Given the description of an element on the screen output the (x, y) to click on. 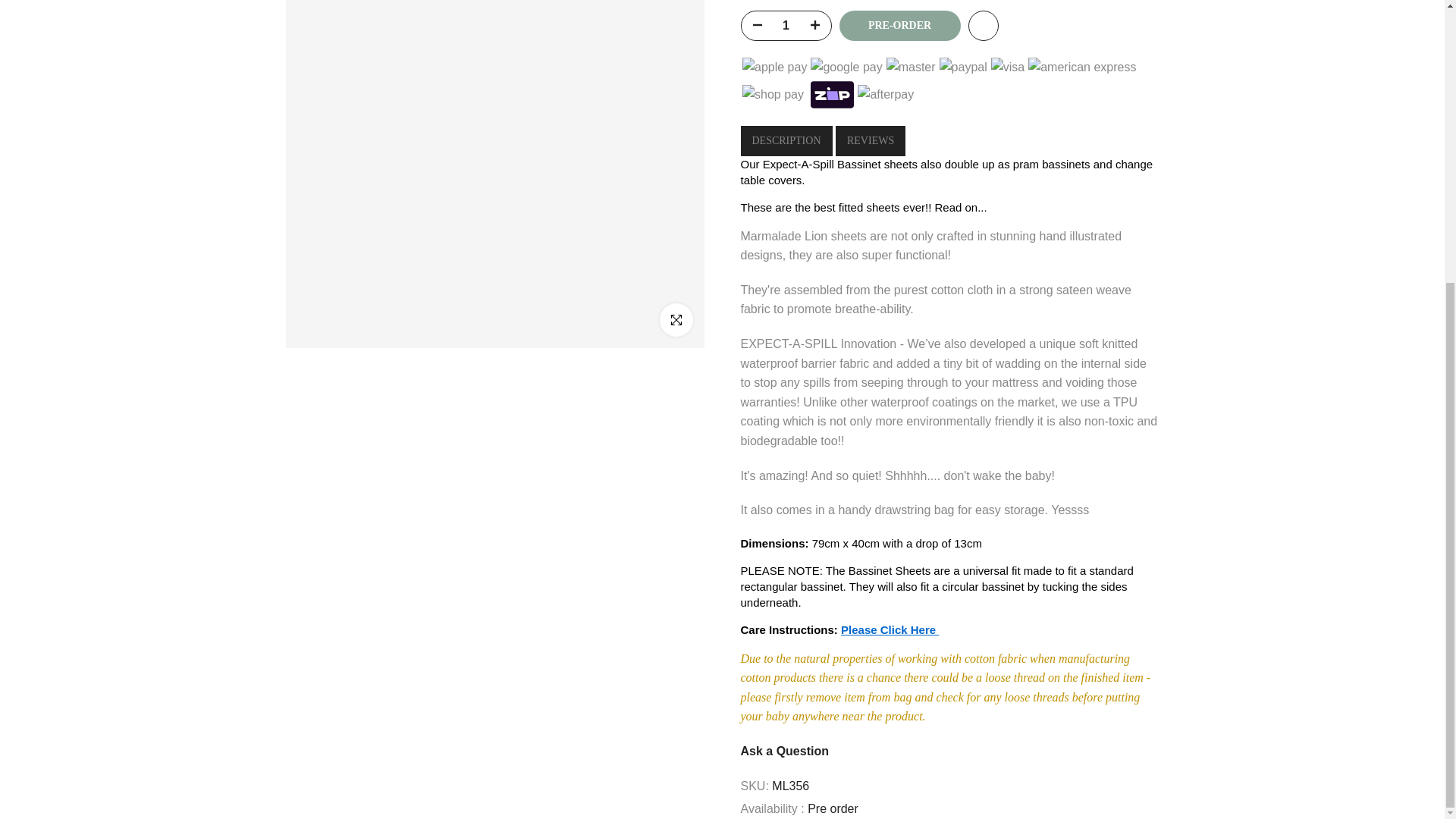
PRE-ORDER (898, 21)
1 (786, 21)
Please Click Here (890, 626)
